Given the description of an element on the screen output the (x, y) to click on. 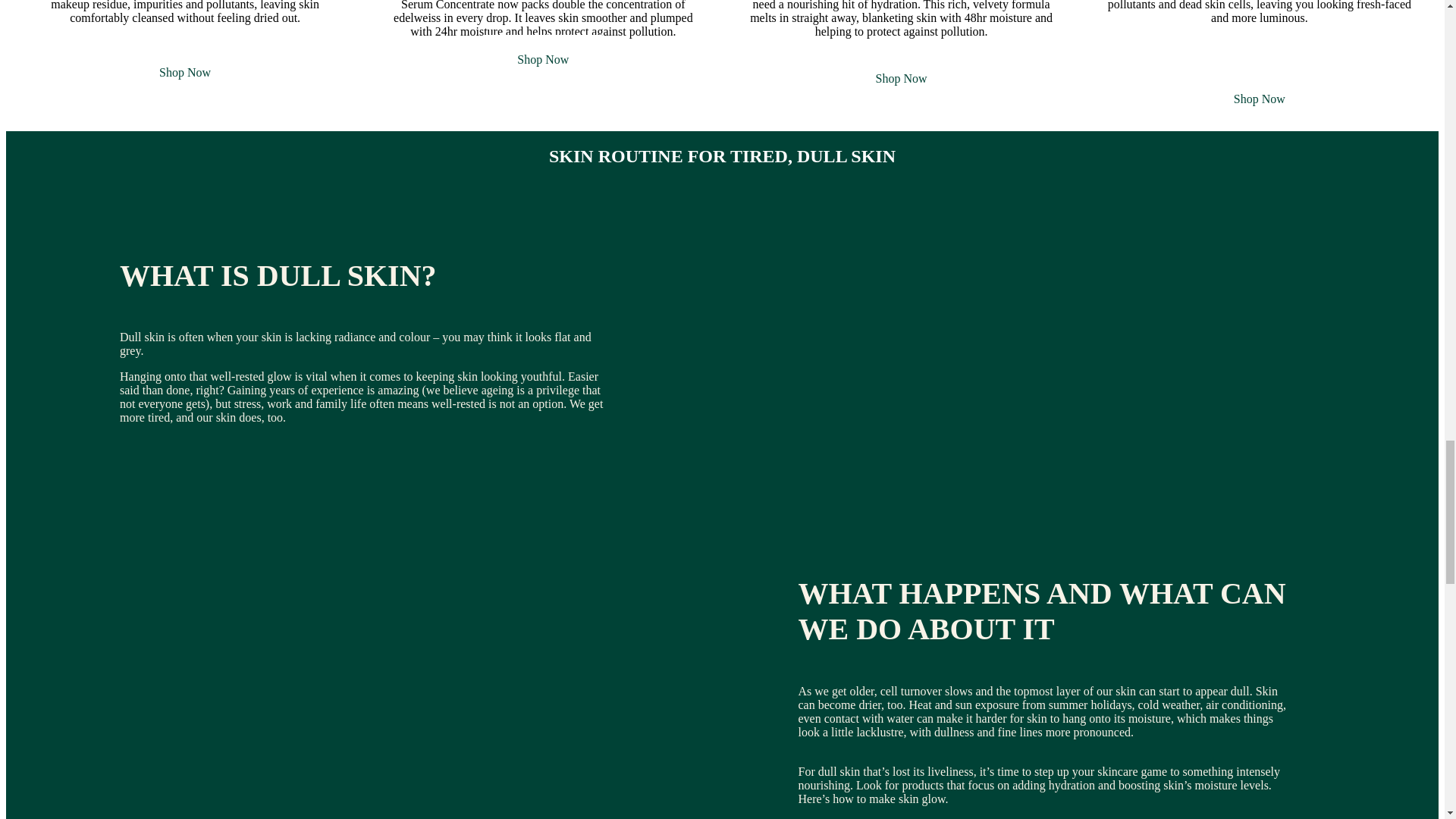
Shop Now (1259, 98)
Shop Now (901, 78)
Shop Now (184, 72)
Shop Now (542, 59)
